Given the description of an element on the screen output the (x, y) to click on. 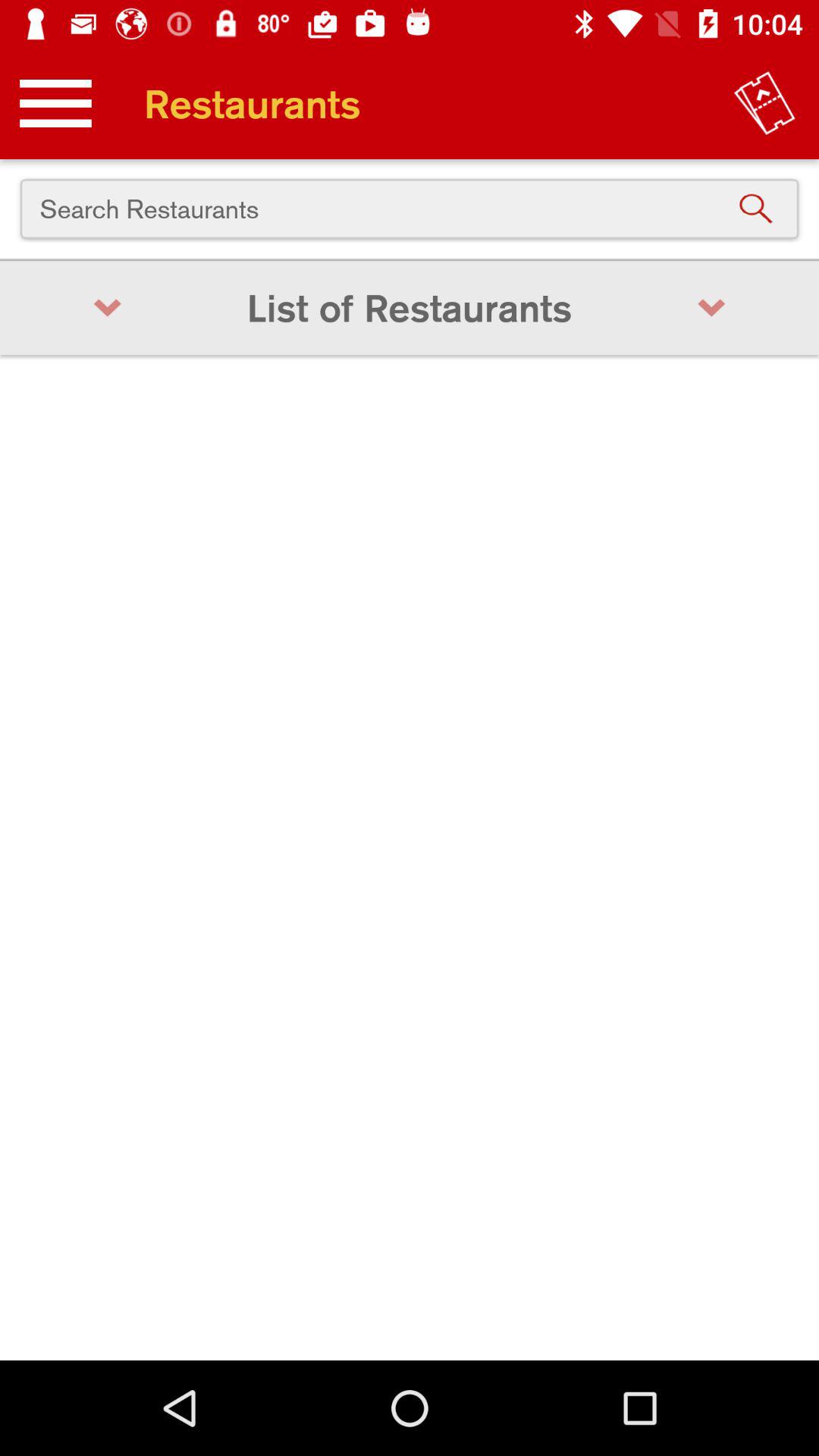
select list of restaurants item (409, 307)
